Given the description of an element on the screen output the (x, y) to click on. 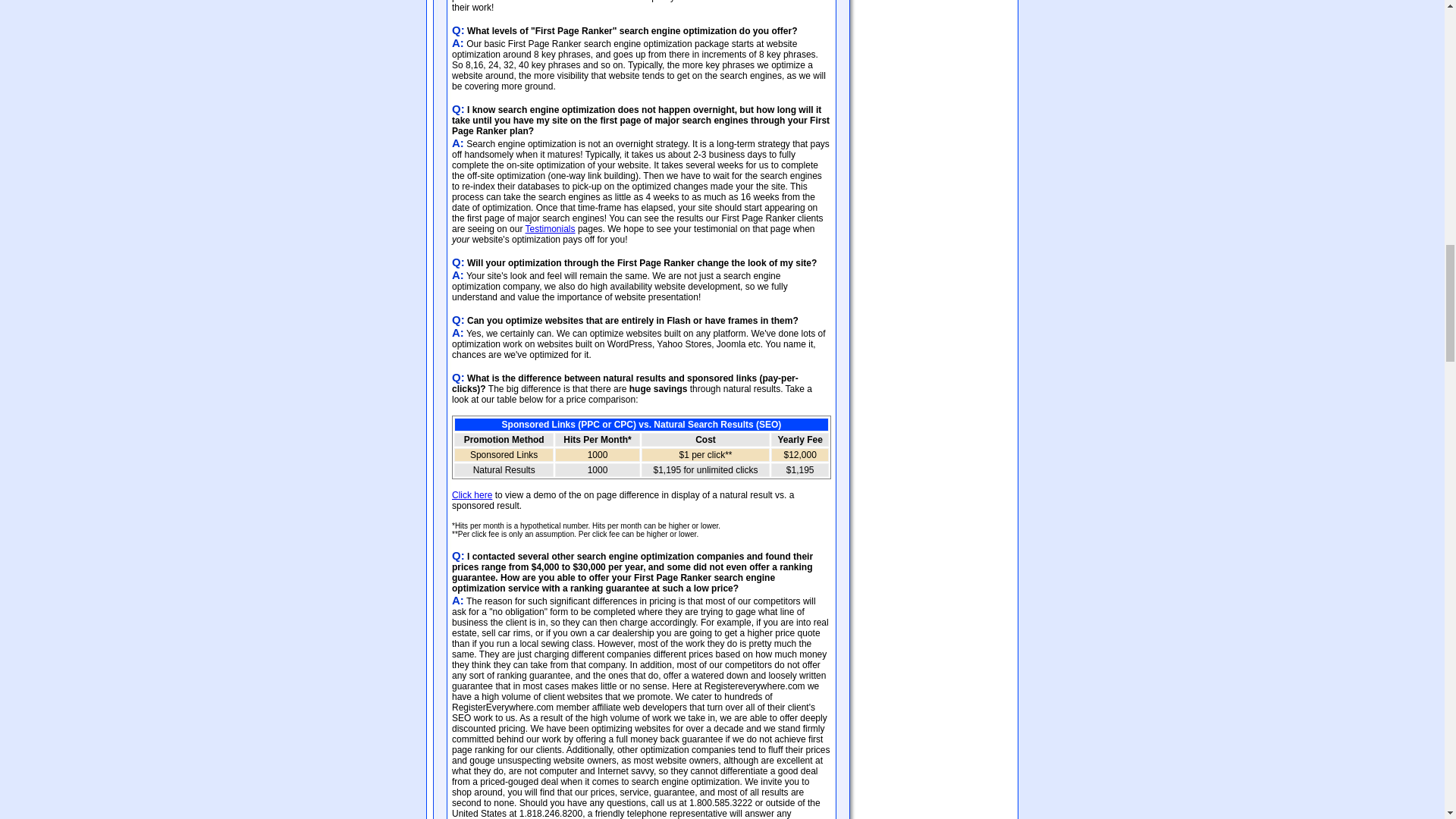
Testimonials (550, 228)
Click here (471, 494)
